Given the description of an element on the screen output the (x, y) to click on. 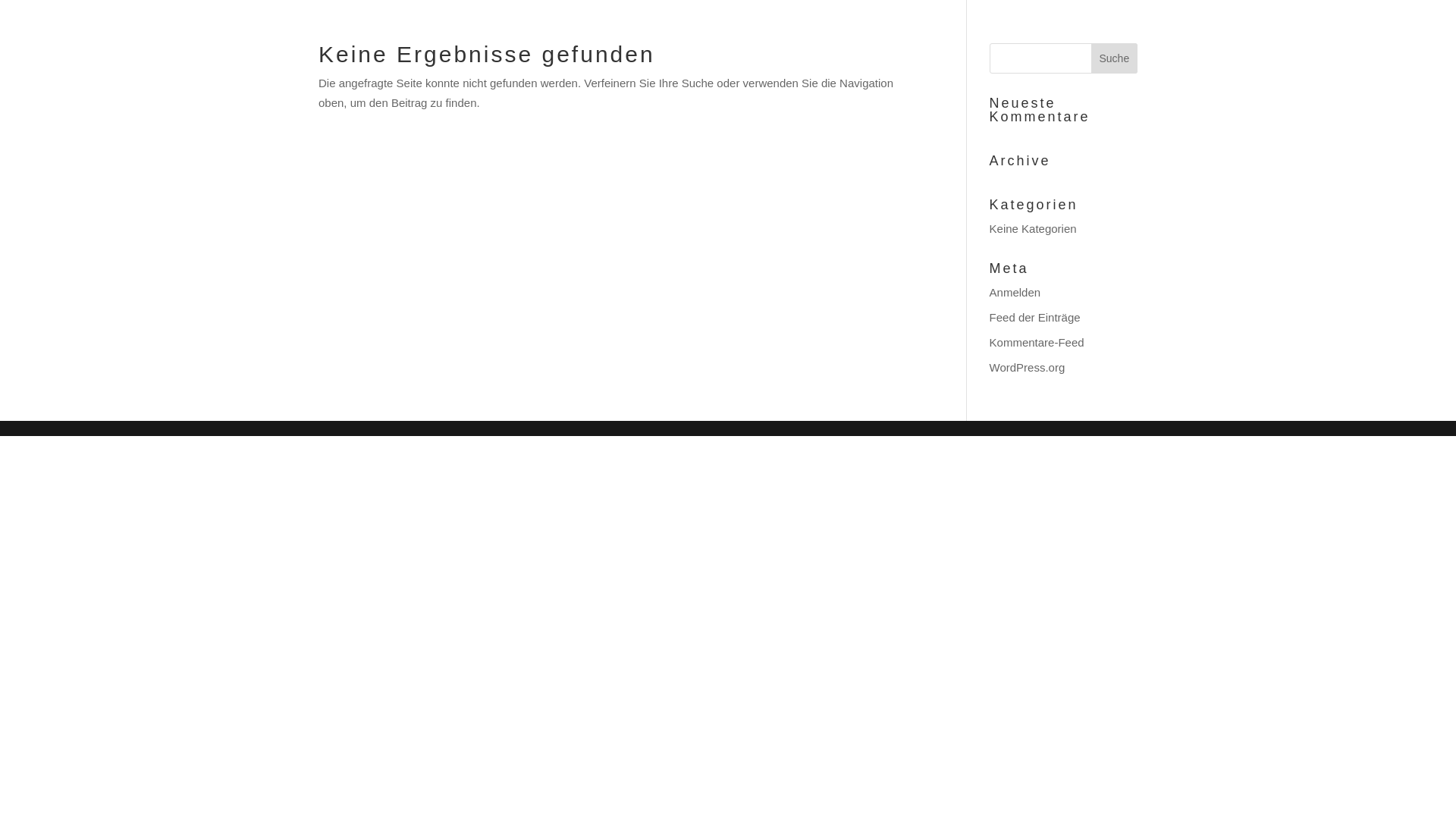
Kommentare-Feed Element type: text (1036, 341)
WordPress.org Element type: text (1027, 366)
Suche Element type: text (1114, 58)
Anmelden Element type: text (1015, 291)
